Given the description of an element on the screen output the (x, y) to click on. 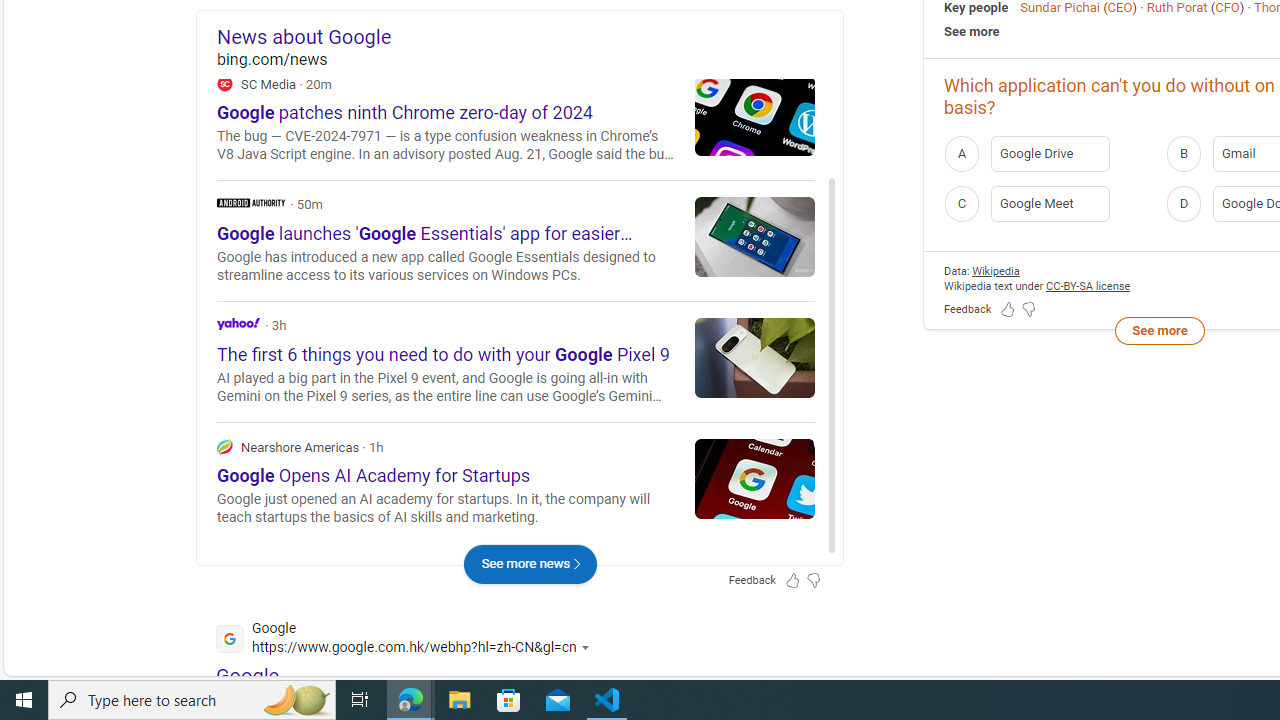
Export (791, 129)
Android Authority (251, 201)
Feedback Like (1007, 309)
